Given the description of an element on the screen output the (x, y) to click on. 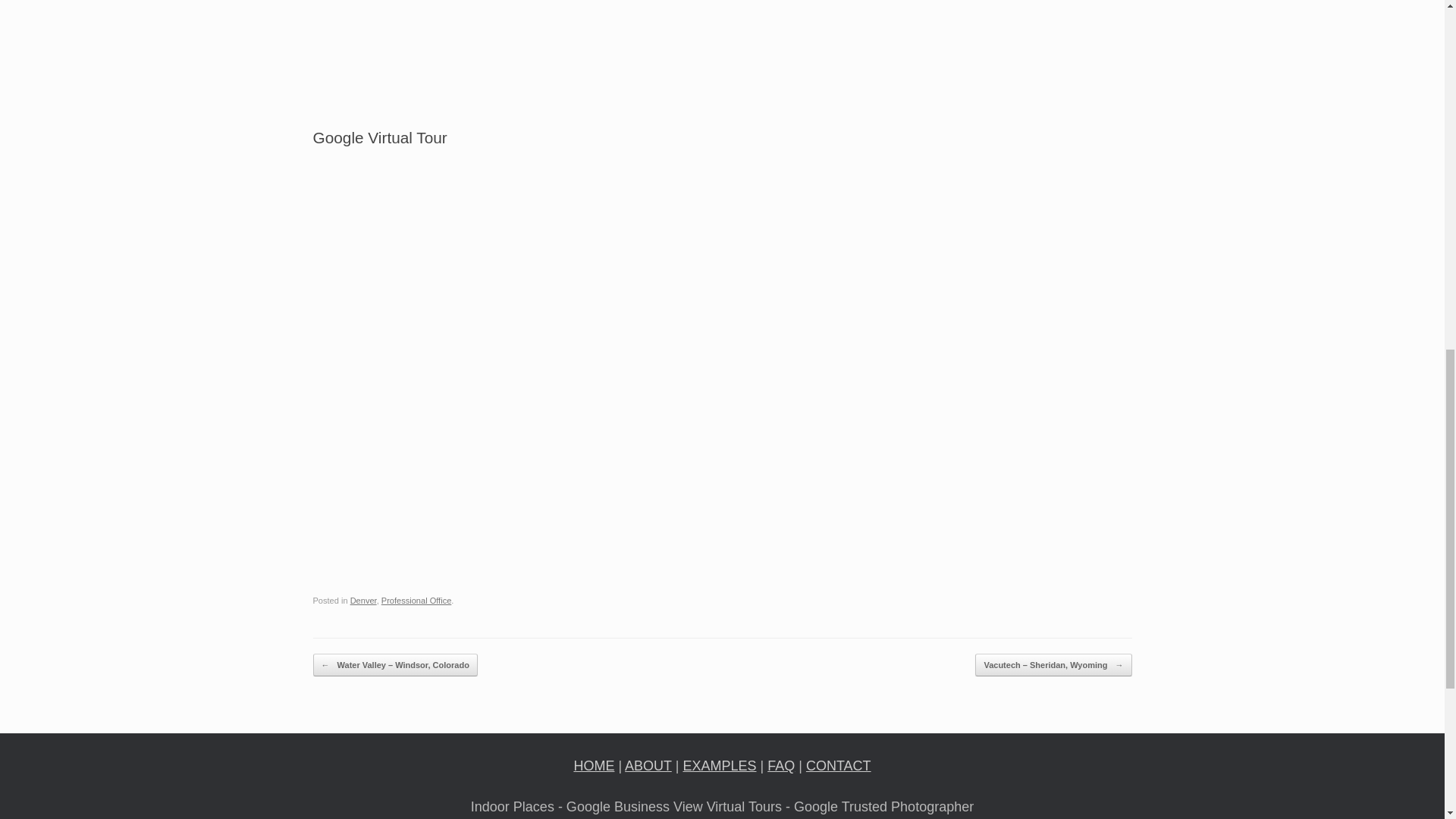
Professional Office (416, 600)
ABOUT (647, 765)
CONTACT (838, 765)
FAQ (780, 765)
Vivax Pro Painting 501 S Lipan St Denver, CO (932, 33)
HOME (593, 765)
Denver (363, 600)
EXAMPLES (718, 765)
